Given the description of an element on the screen output the (x, y) to click on. 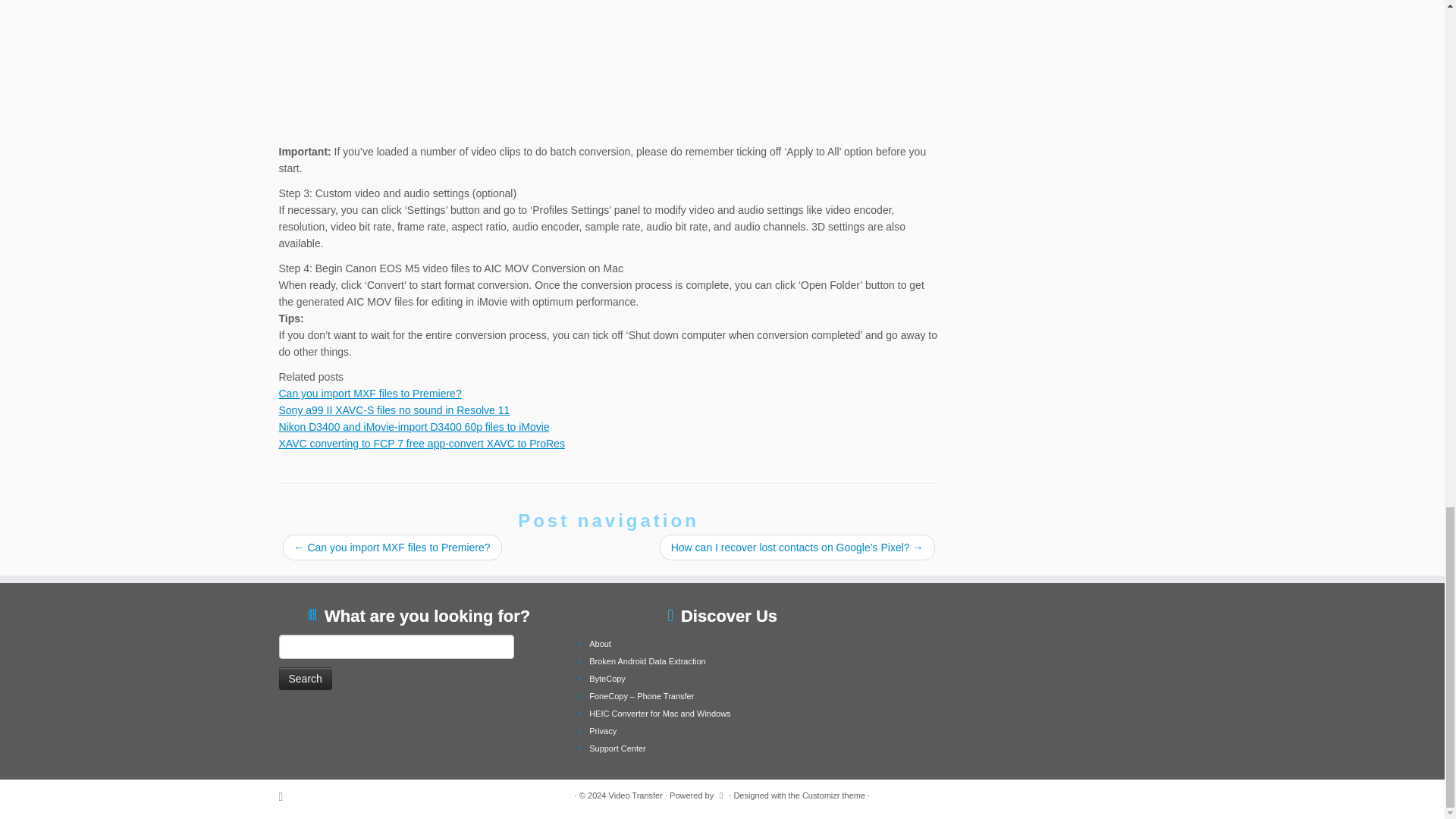
Search (305, 678)
Sony a99 II XAVC-S files no sound in Resolve 11 (395, 410)
Powered by WordPress (721, 792)
Video Transfer (635, 795)
Follow us on Rss (286, 796)
Customizr theme (833, 795)
Can you import MXF files to Premiere? (370, 393)
